Given the description of an element on the screen output the (x, y) to click on. 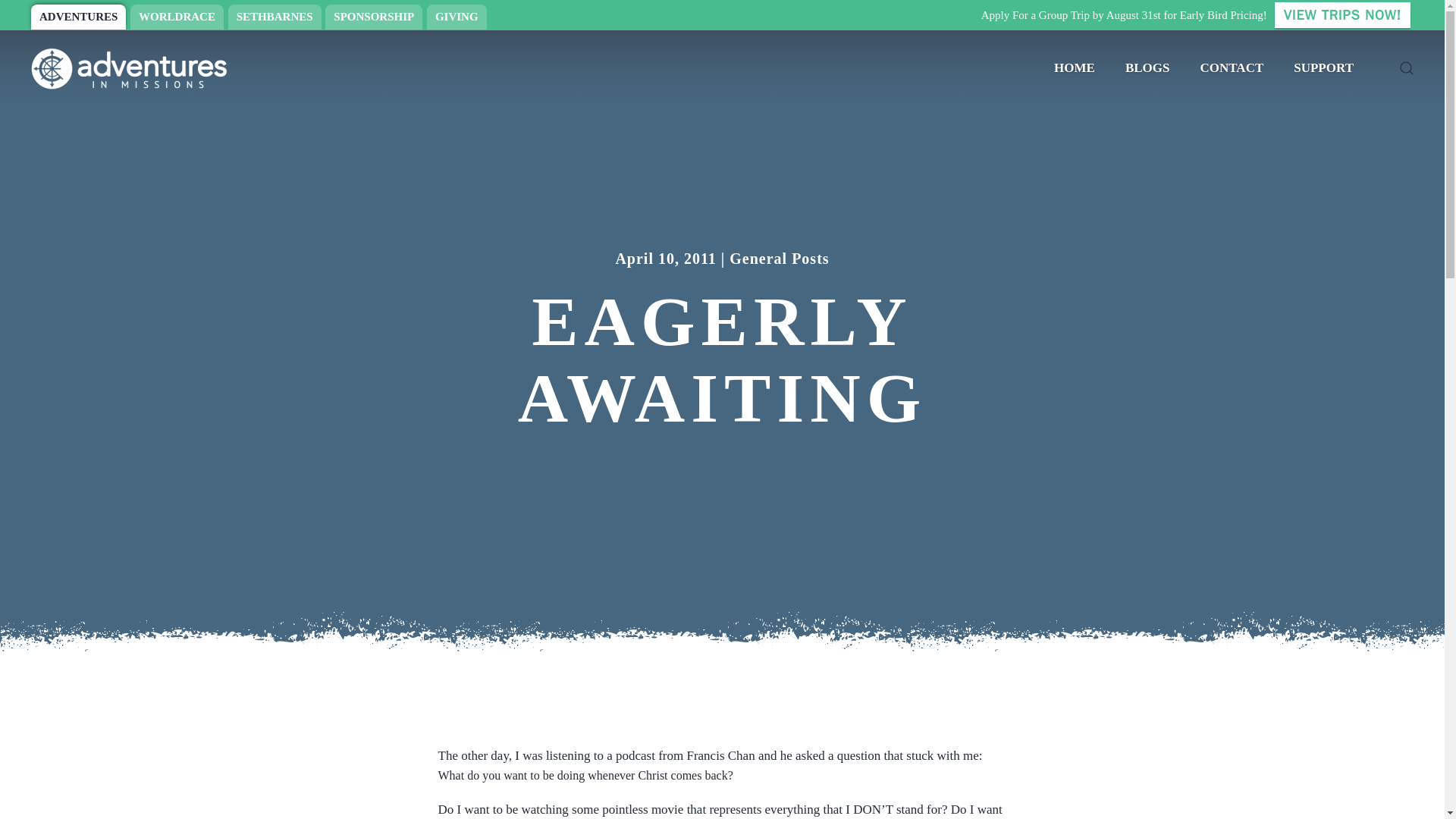
BLOGS (1147, 68)
SETHBARNES (274, 16)
SPONSORSHIP (373, 16)
HOME (1074, 68)
CONTACT (1231, 68)
General Posts (778, 258)
SUPPORT (1323, 68)
WORLDRACE (177, 16)
ADVENTURES (77, 16)
